Given the description of an element on the screen output the (x, y) to click on. 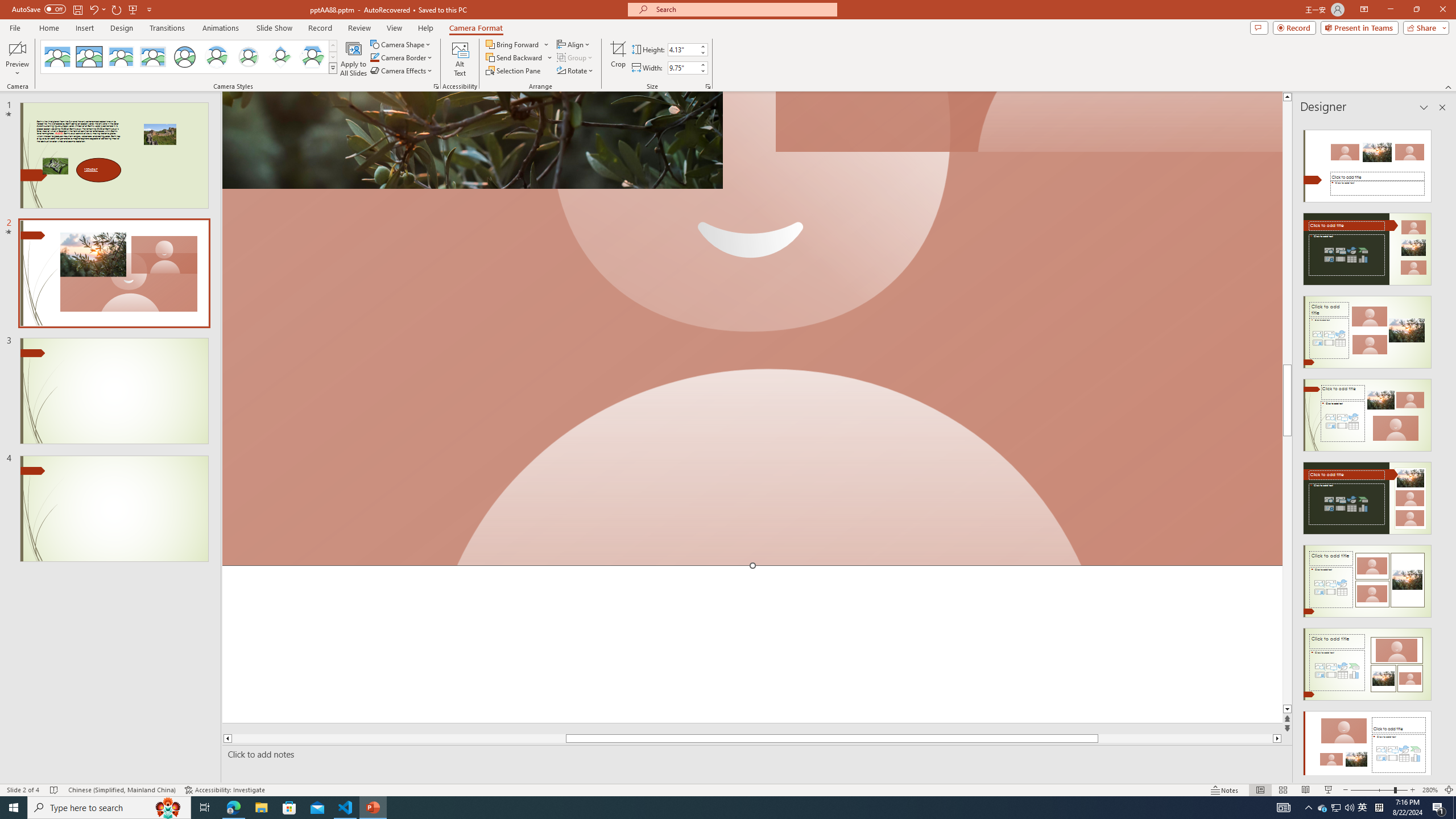
Group (575, 56)
Zoom 280% (1430, 790)
Cameo Height (682, 49)
Crop (617, 58)
Send Backward (514, 56)
Camera Border (401, 56)
